Given the description of an element on the screen output the (x, y) to click on. 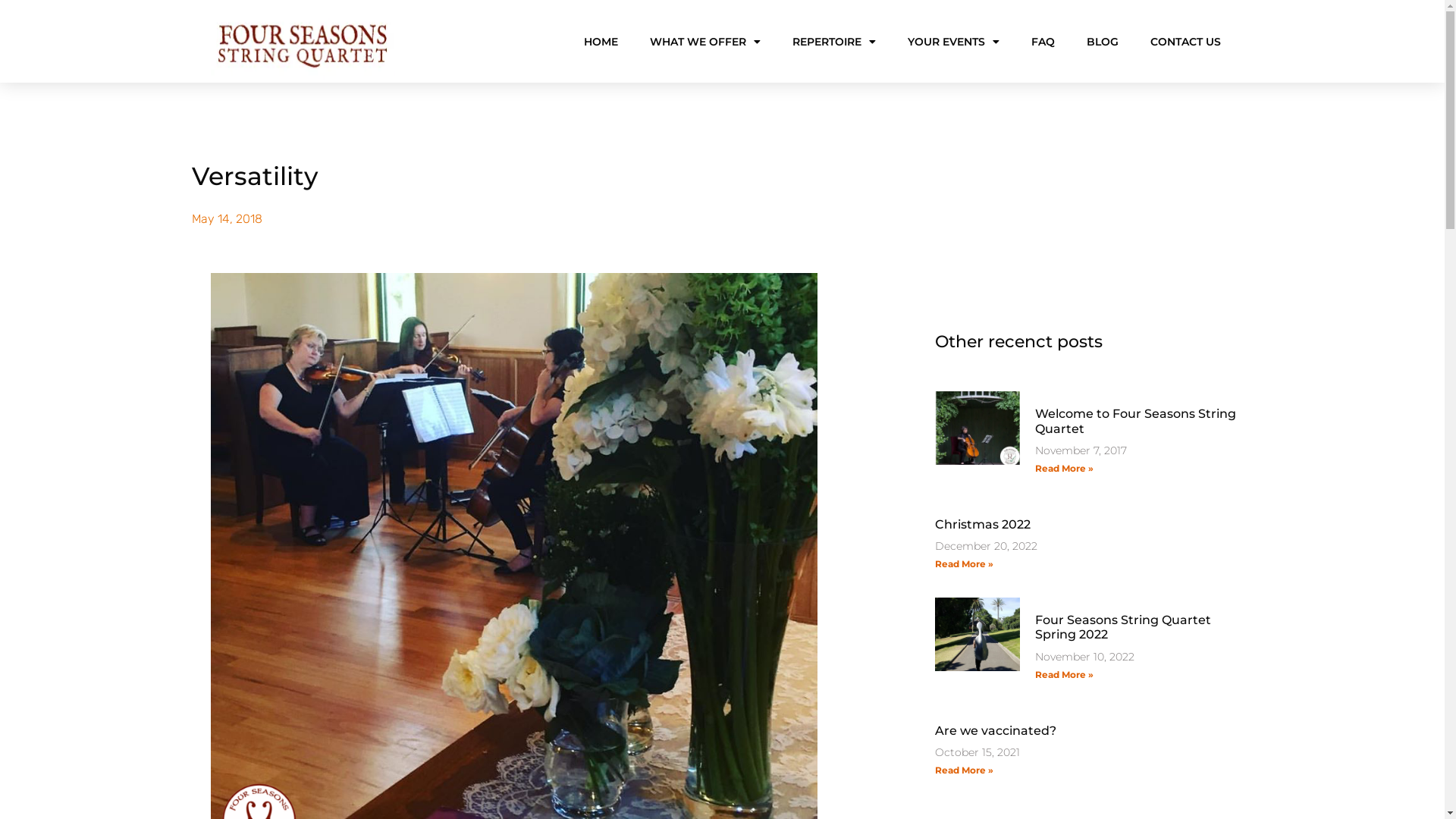
HOME Element type: text (600, 41)
BLOG Element type: text (1101, 41)
YOUR EVENTS Element type: text (952, 41)
Four Seasons String Quartet Spring 2022 Element type: text (1122, 626)
CONTACT US Element type: text (1184, 41)
WHAT WE OFFER Element type: text (704, 41)
FAQ Element type: text (1042, 41)
REPERTOIRE Element type: text (833, 41)
May 14, 2018 Element type: text (226, 218)
Are we vaccinated? Element type: text (994, 730)
Welcome to Four Seasons String Quartet Element type: text (1134, 420)
Christmas 2022 Element type: text (981, 524)
